Given the description of an element on the screen output the (x, y) to click on. 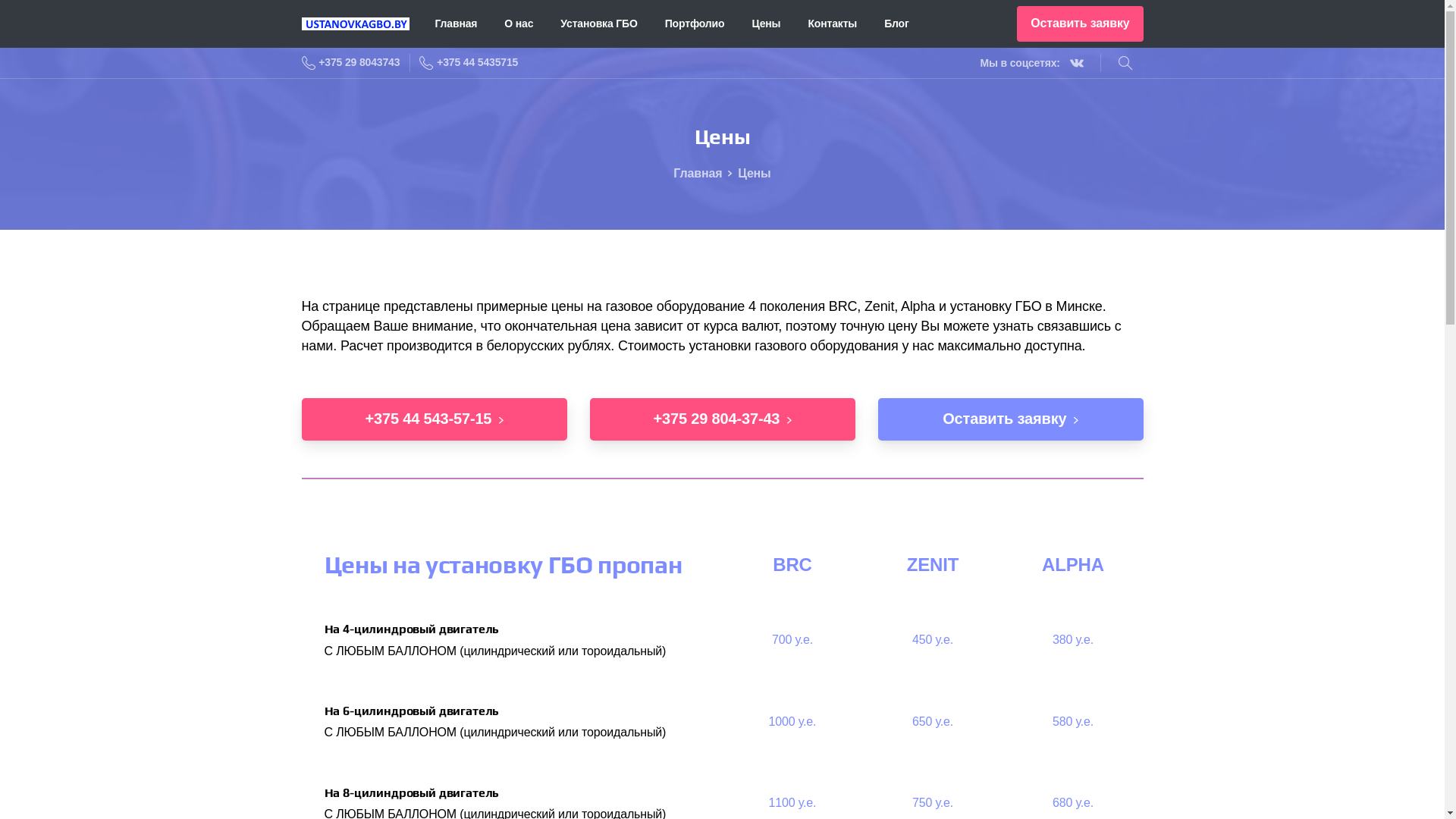
+375 44 543-57-15 Element type: text (434, 419)
+375 29 8043743 Element type: text (350, 62)
VK Element type: hover (1076, 62)
Search Element type: text (1125, 62)
+375 29 804-37-43 Element type: text (722, 419)
+375 44 5435715 Element type: text (468, 62)
